Given the description of an element on the screen output the (x, y) to click on. 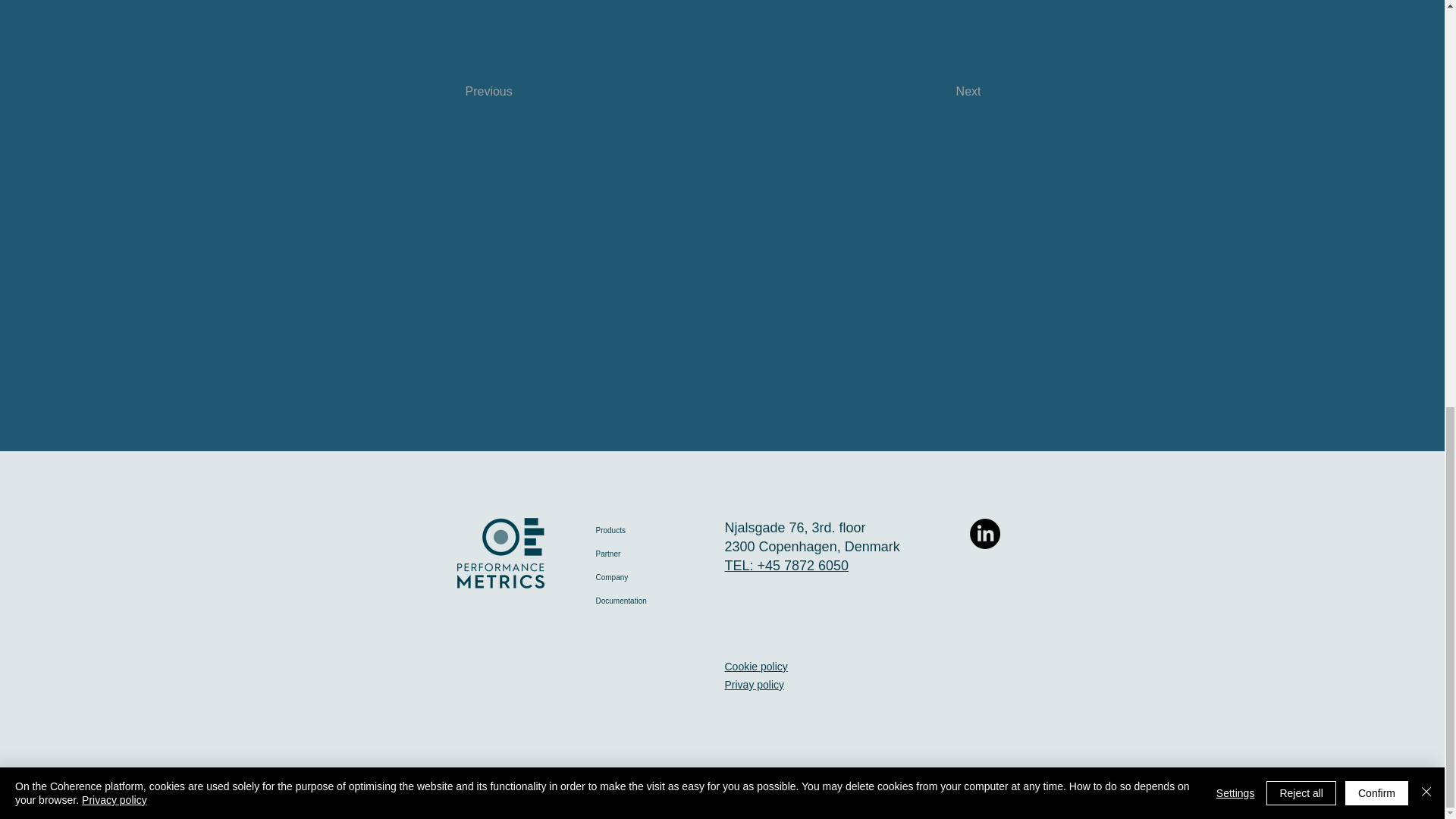
Previous (515, 91)
Cookie policy (756, 666)
Products (646, 530)
Privay policy (754, 683)
Next (943, 91)
Partner (646, 553)
Company (646, 576)
